Given the description of an element on the screen output the (x, y) to click on. 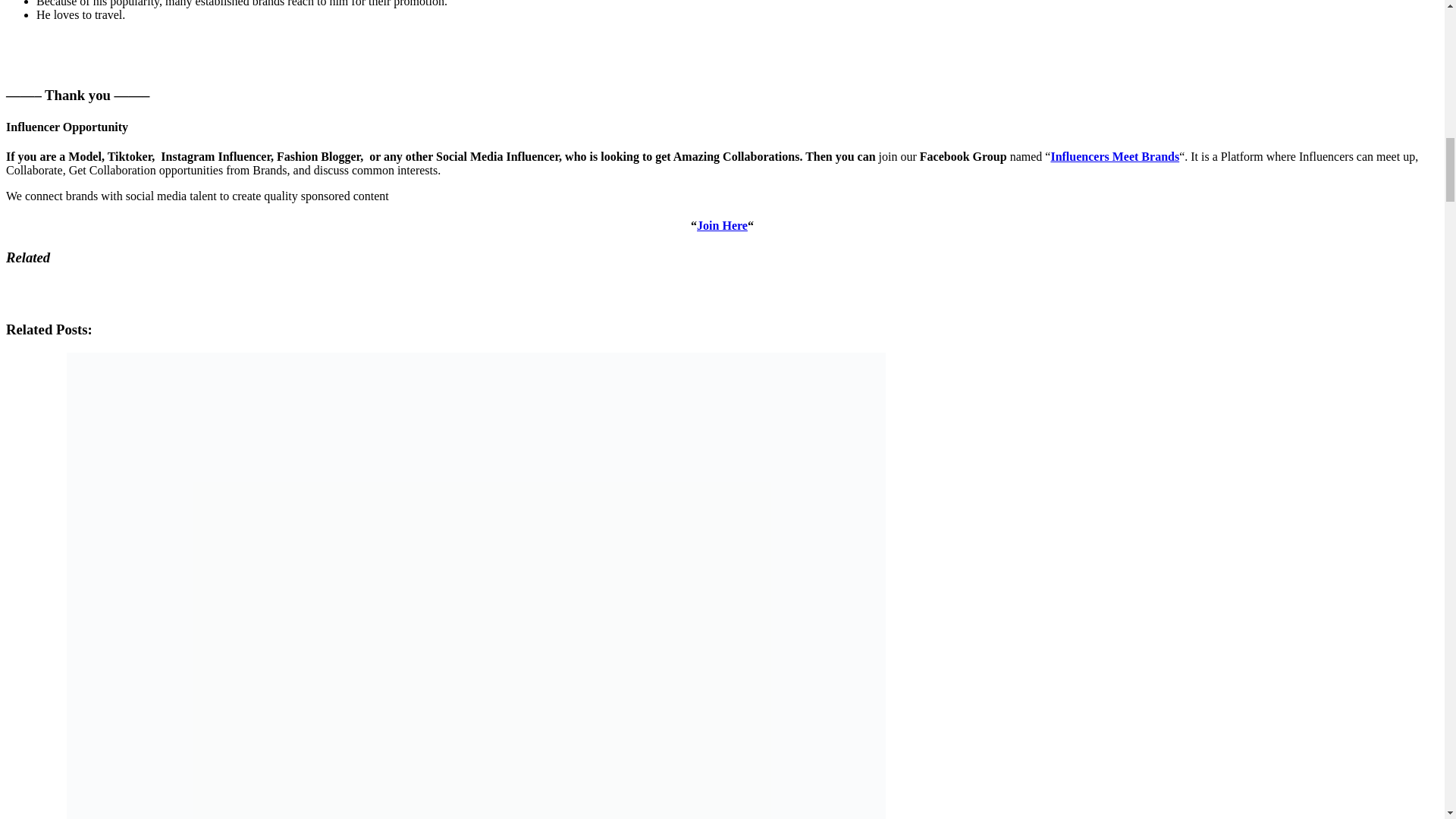
Join Here (722, 225)
Influencers Meet Brands (1114, 155)
